Given the description of an element on the screen output the (x, y) to click on. 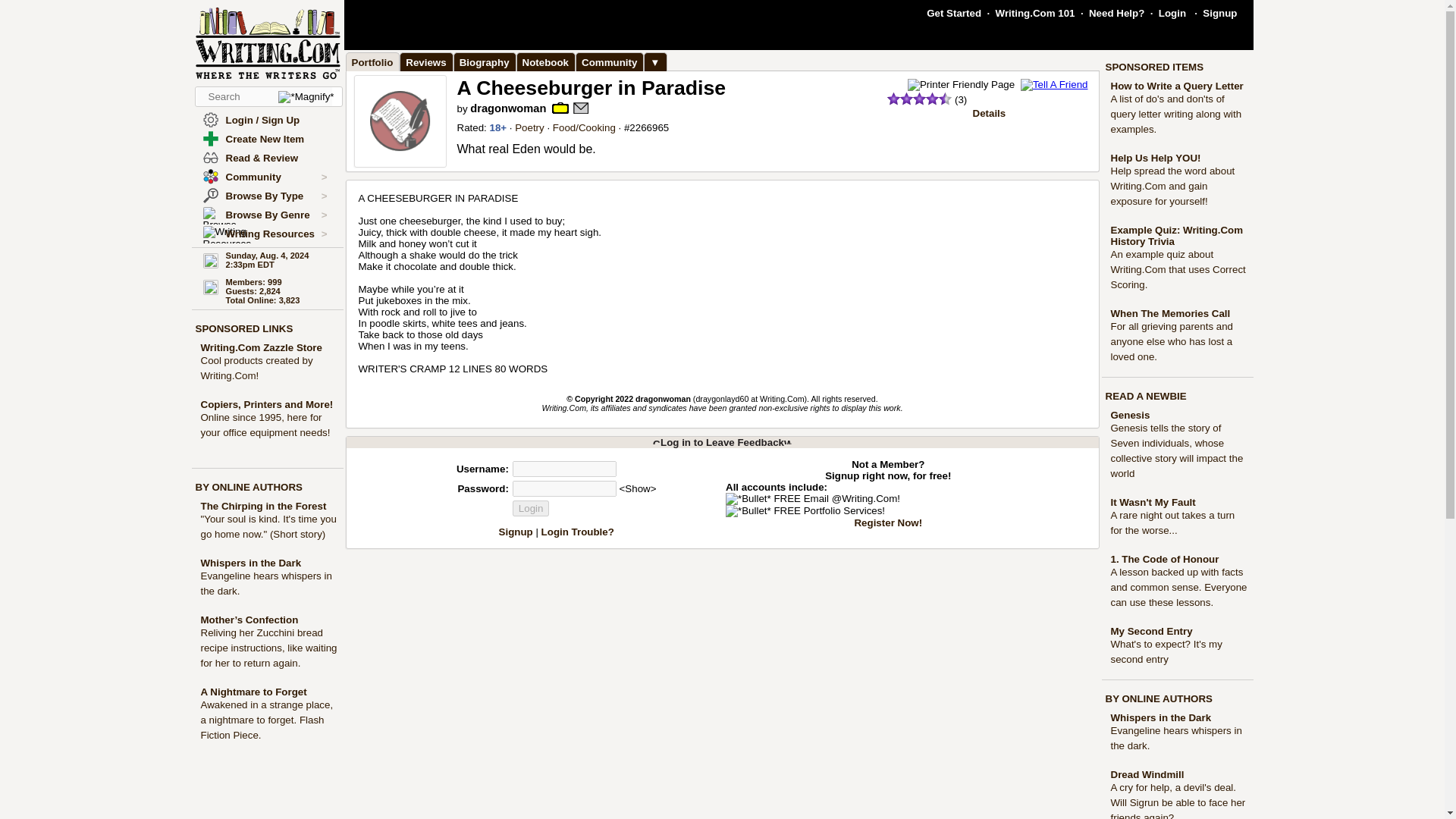
Signup (1219, 12)
Login (531, 508)
Need Help? (1116, 12)
Create New Item (264, 138)
Login (1172, 12)
Magnify (305, 96)
Writing.Com 101 (1035, 12)
Get Started (953, 12)
